Given the description of an element on the screen output the (x, y) to click on. 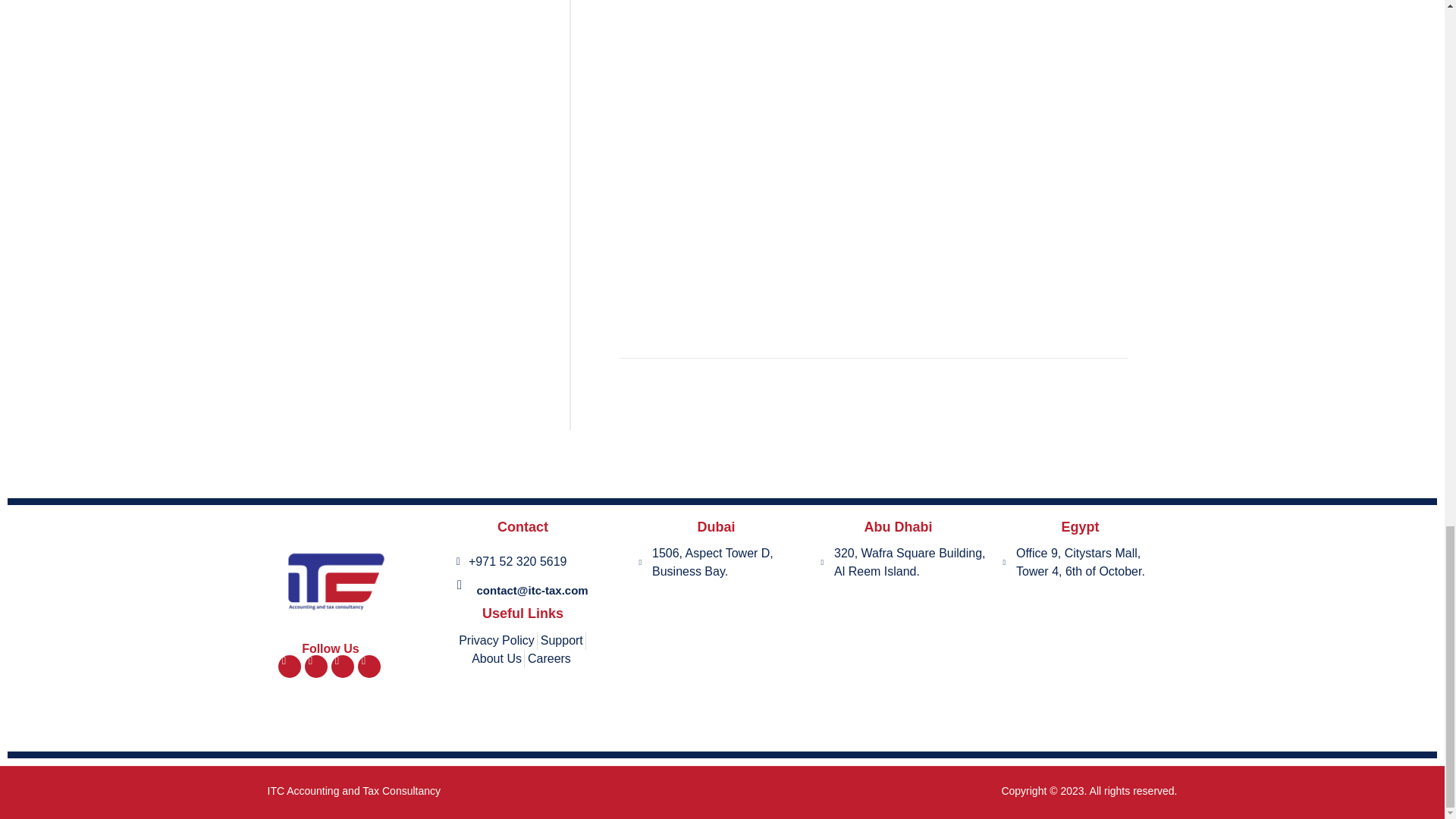
Support (561, 640)
About Us (496, 659)
Careers (548, 659)
Privacy Policy (496, 640)
